Given the description of an element on the screen output the (x, y) to click on. 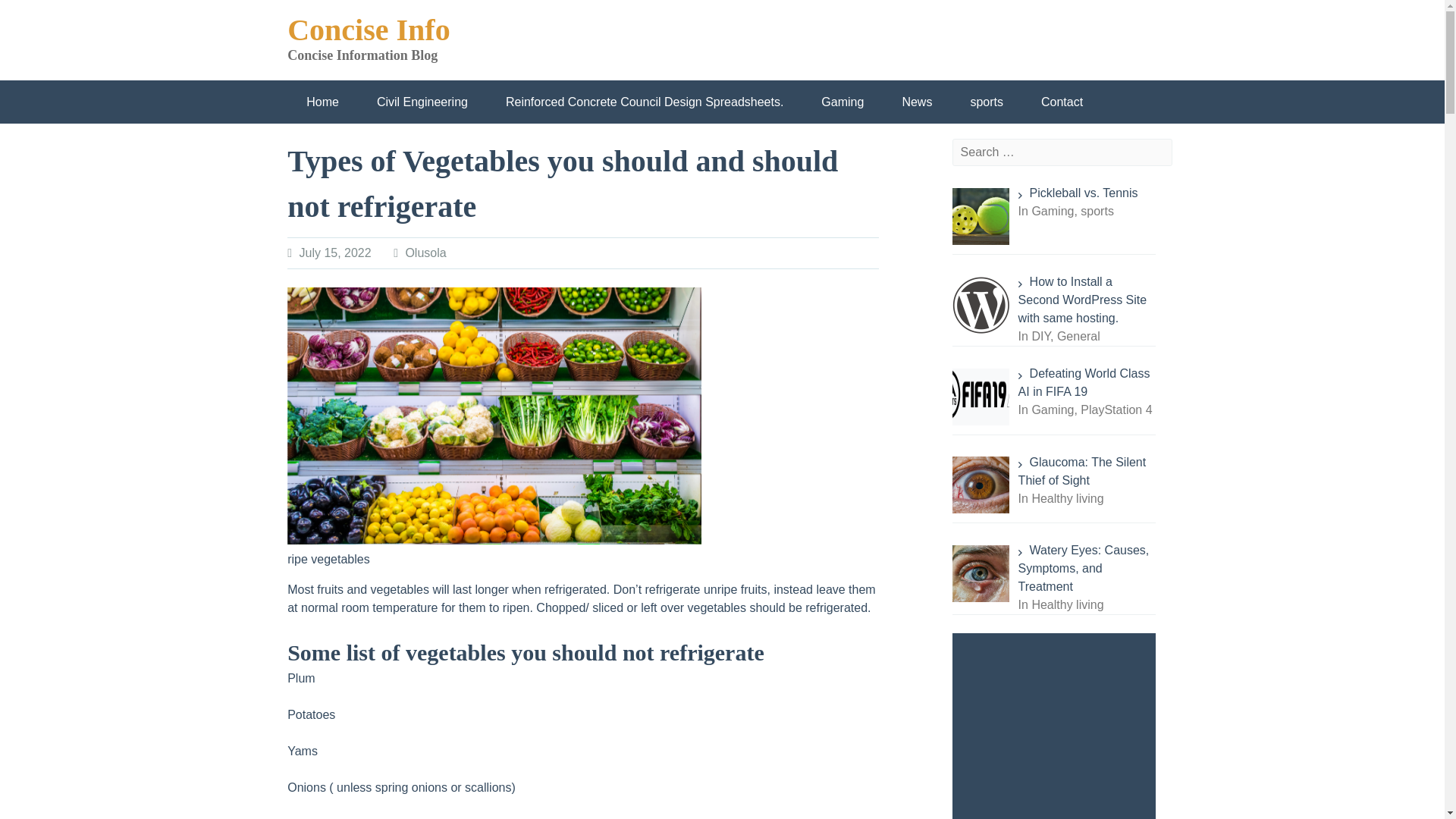
How to Install a Second WordPress Site with same hosting. (1082, 299)
Olusola (424, 252)
July 15, 2022 (334, 252)
Defeating World Class AI in FIFA 19 (1083, 382)
Civil Engineering (422, 101)
Glaucoma: The Silent Thief of Sight (1082, 470)
Search (443, 9)
Home (322, 101)
Advertisement (1057, 726)
Watery Eyes: Causes, Symptoms, and Treatment (1083, 567)
